Given the description of an element on the screen output the (x, y) to click on. 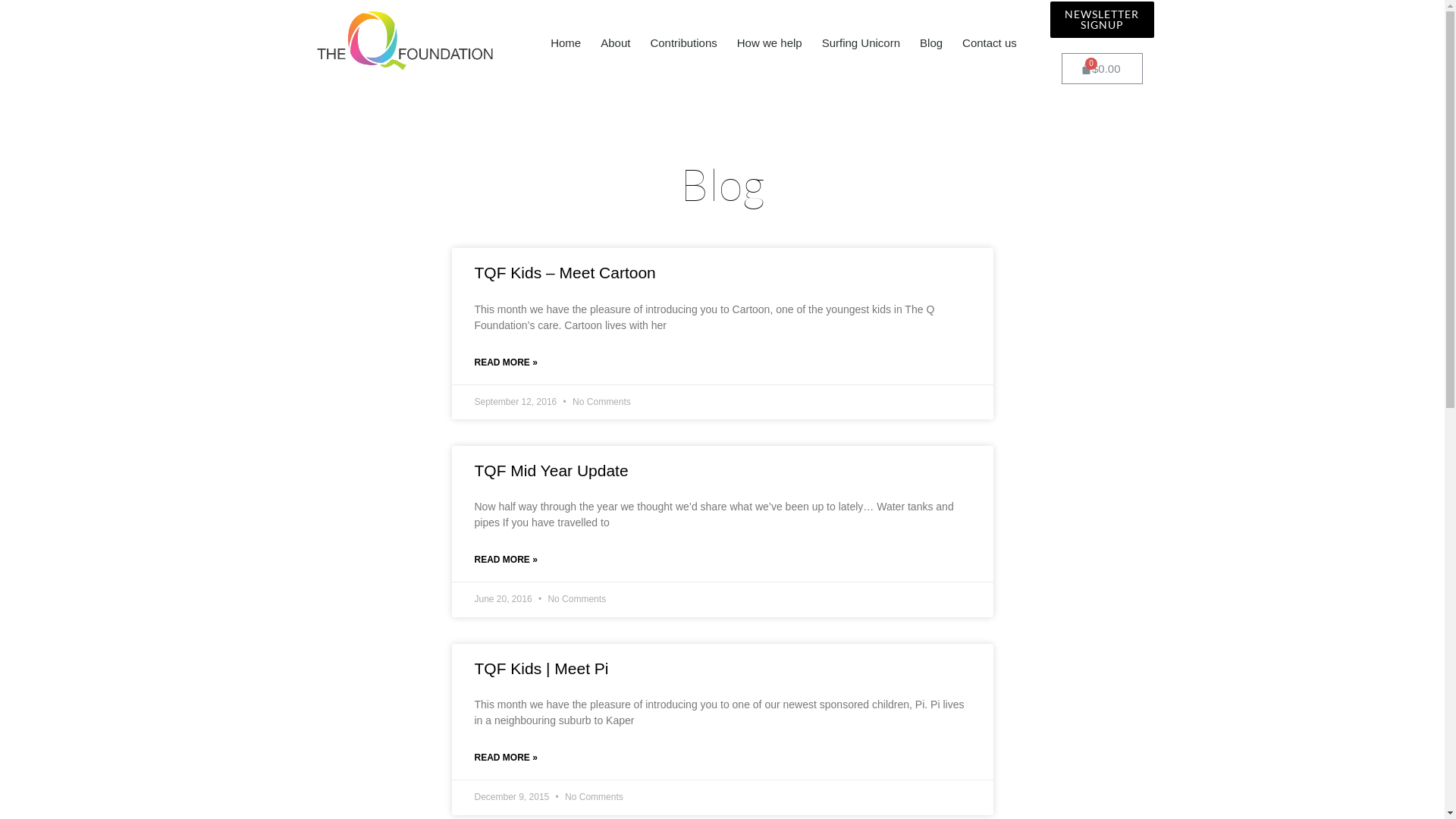
TQF Mid Year Update Element type: text (551, 470)
Contributions Element type: text (683, 43)
$0.00 Element type: text (1101, 68)
Blog Element type: text (931, 43)
TQF Kids | Meet Pi Element type: text (541, 668)
Surfing Unicorn Element type: text (861, 43)
Home Element type: text (565, 43)
About Element type: text (615, 43)
NEWSLETTER SIGNUP Element type: text (1101, 19)
Contact us Element type: text (989, 43)
How we help Element type: text (769, 43)
